Given the description of an element on the screen output the (x, y) to click on. 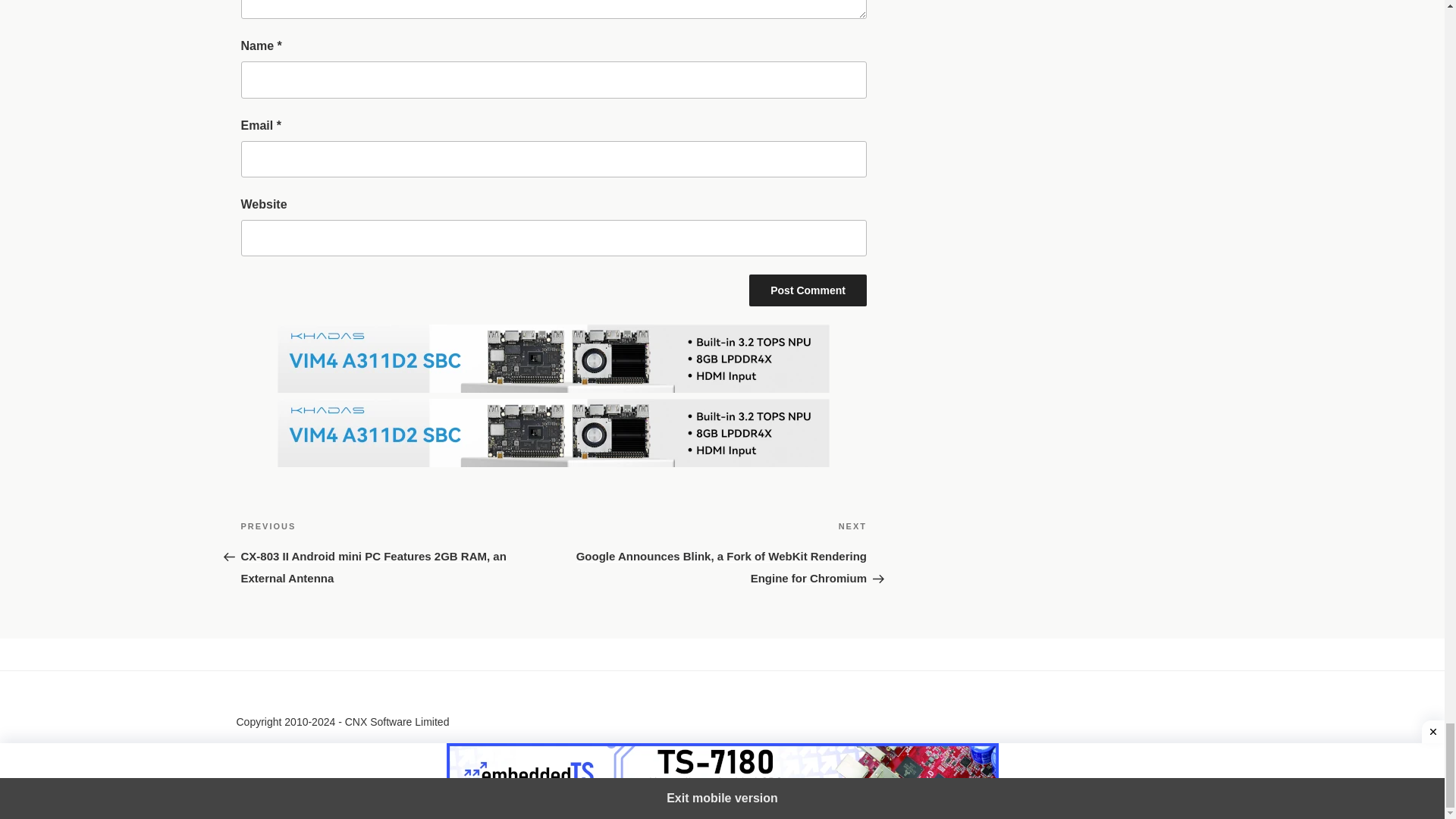
Post Comment (807, 290)
